Given the description of an element on the screen output the (x, y) to click on. 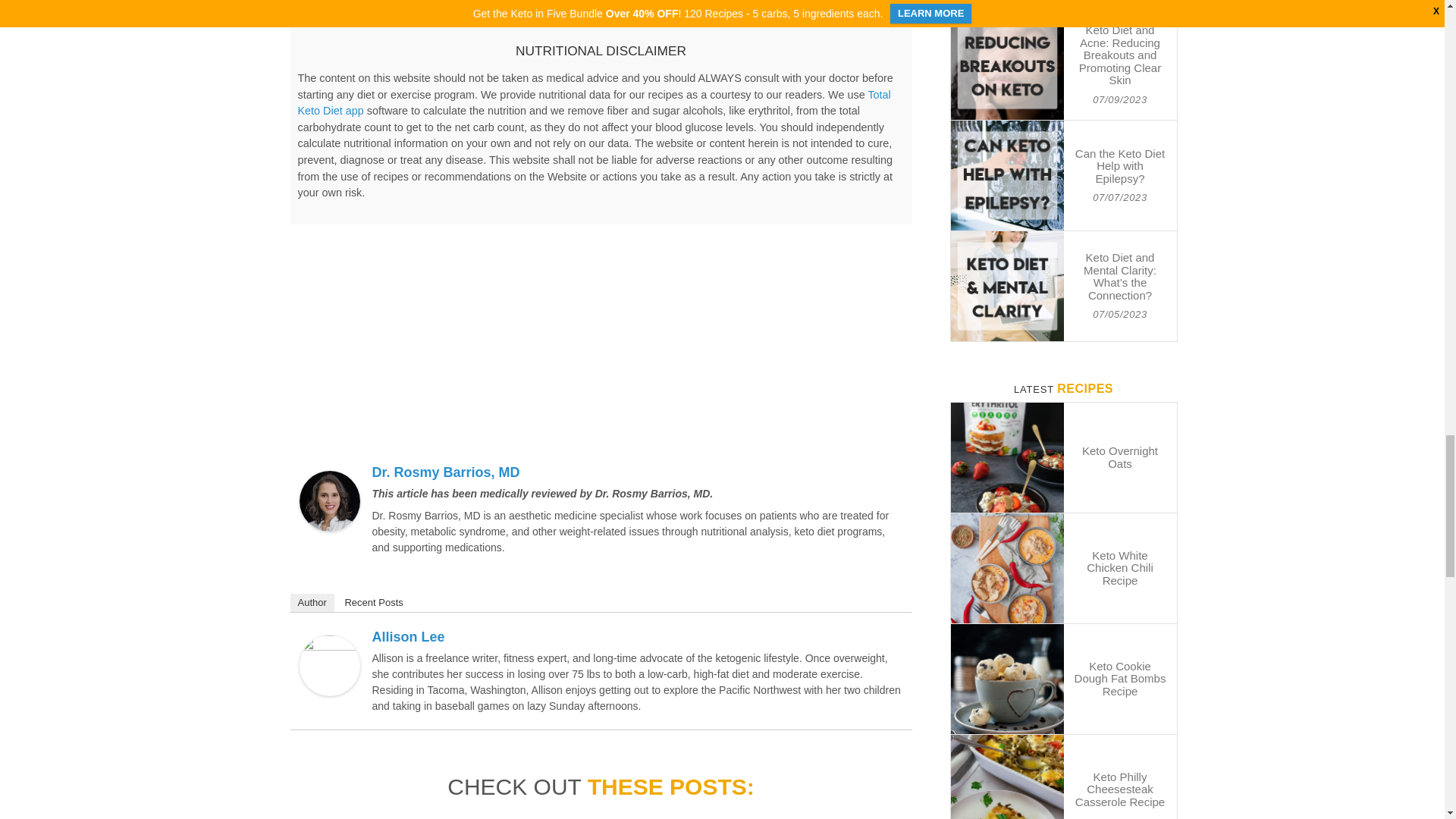
Allison Lee (328, 644)
